Given the description of an element on the screen output the (x, y) to click on. 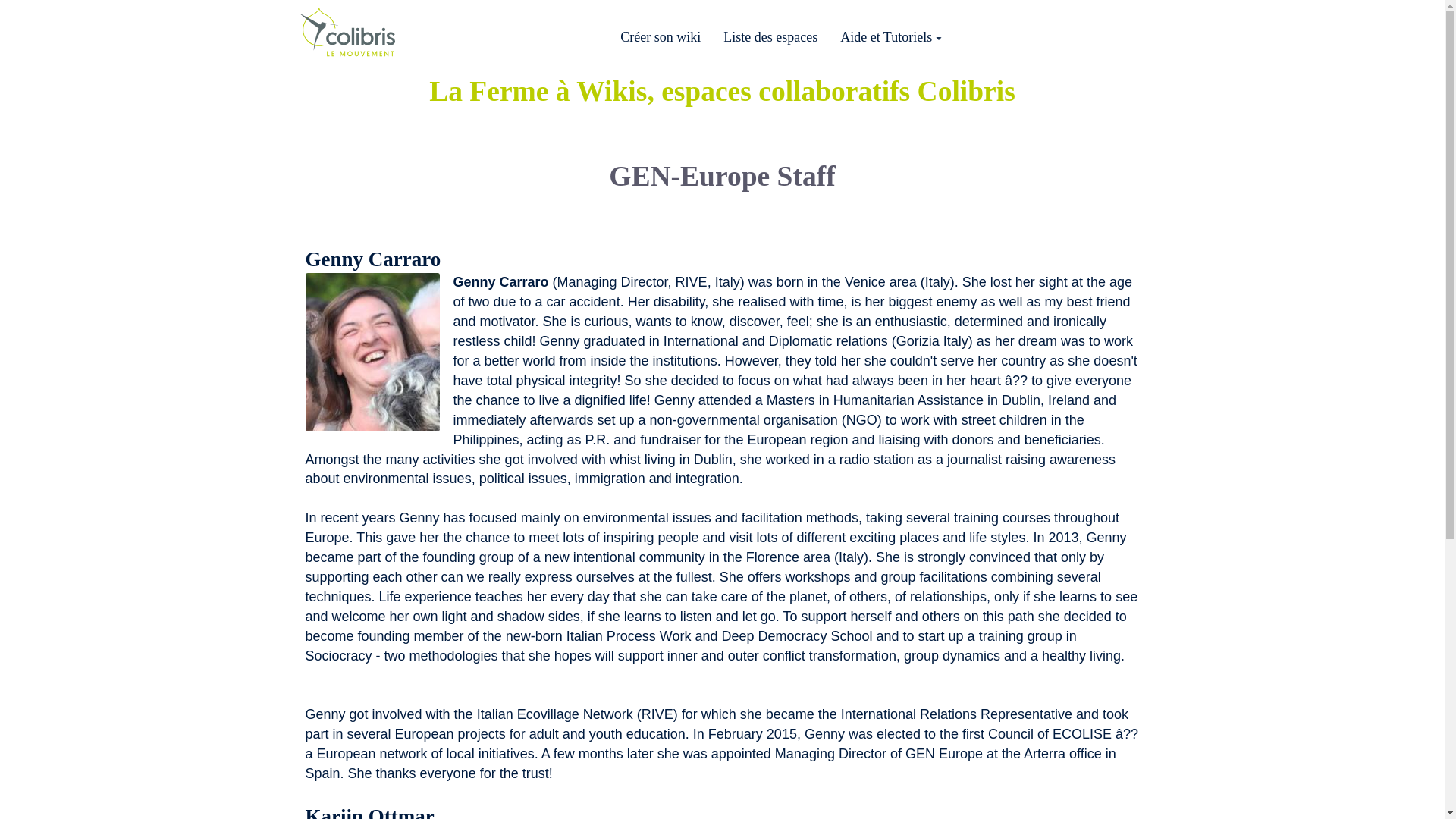
Aide et Tutoriels (890, 37)
page d'accueil (348, 28)
Liste des espaces (769, 37)
